Given the description of an element on the screen output the (x, y) to click on. 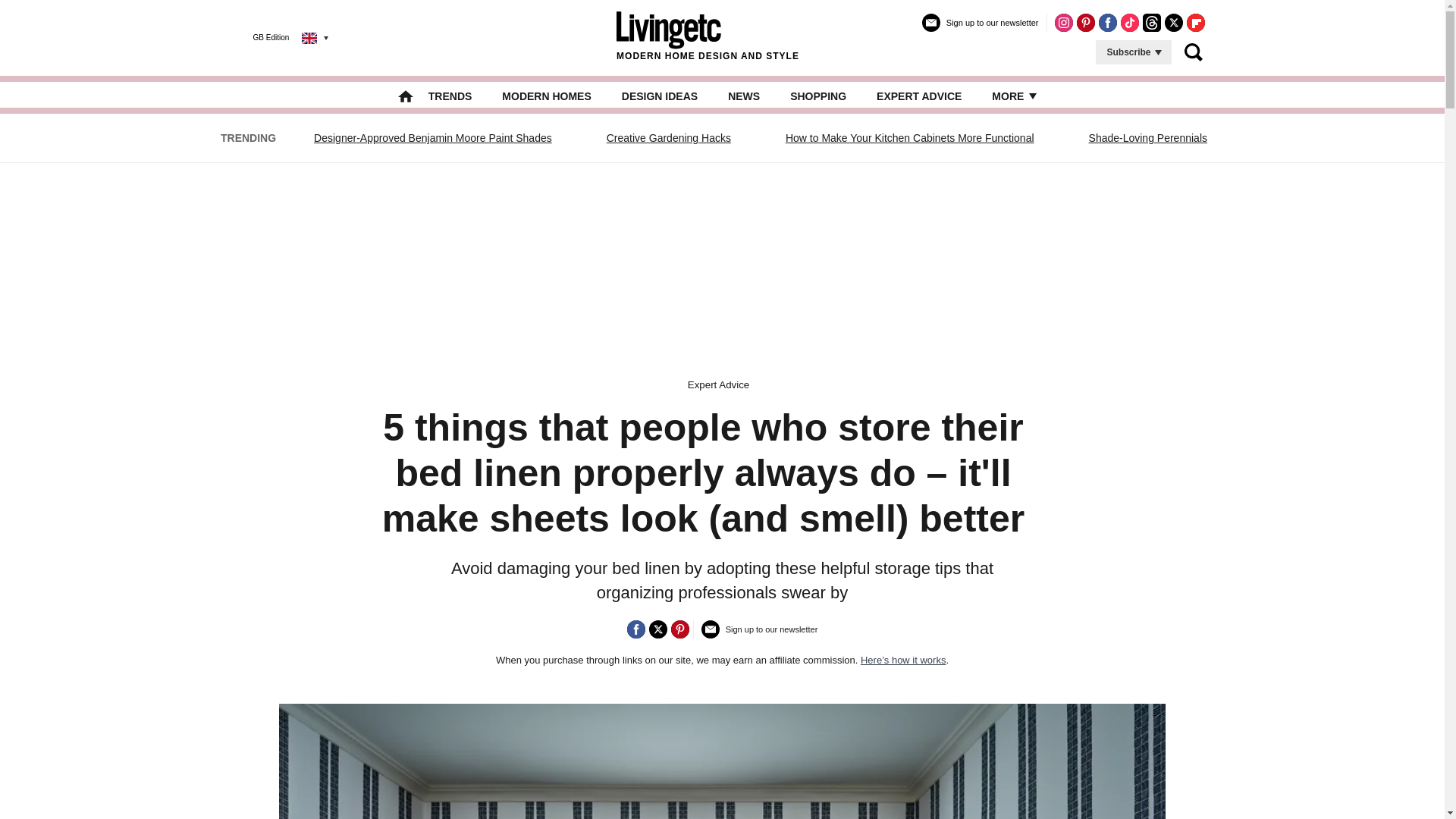
MODERN HOME DESIGN AND STYLE (707, 37)
GB Edition (279, 37)
Expert Advice (718, 384)
Sign up to our newsletter (980, 28)
Shade-Loving Perennials (1147, 137)
NEWS (744, 96)
SHOPPING (817, 96)
How to Make Your Kitchen Cabinets More Functional (909, 137)
Creative Gardening Hacks (668, 137)
EXPERT ADVICE (918, 96)
Designer-Approved Benjamin Moore Paint Shades (432, 137)
Sign up to our newsletter (759, 634)
TRENDS (449, 96)
MODERN HOMES (546, 96)
DESIGN IDEAS (659, 96)
